Given the description of an element on the screen output the (x, y) to click on. 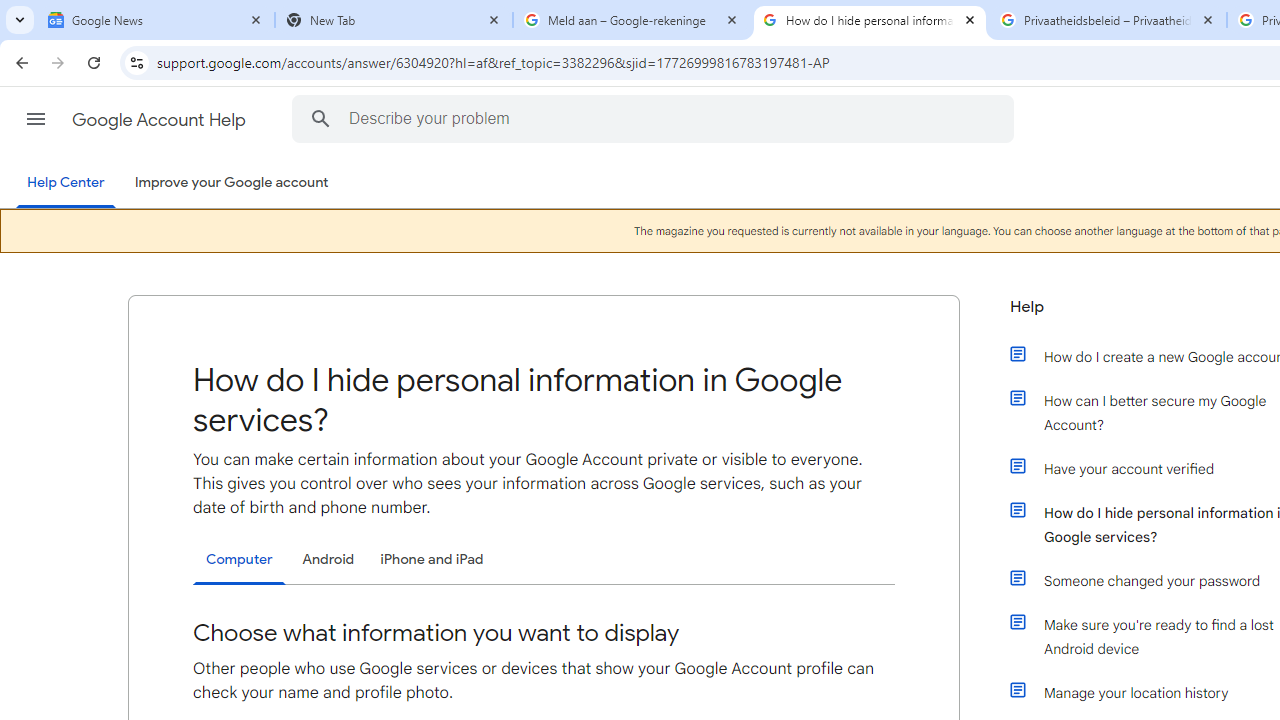
Google Account Help (160, 119)
iPhone and iPad (431, 559)
Computer (239, 559)
Android (328, 559)
Improve your Google account (231, 183)
